Given the description of an element on the screen output the (x, y) to click on. 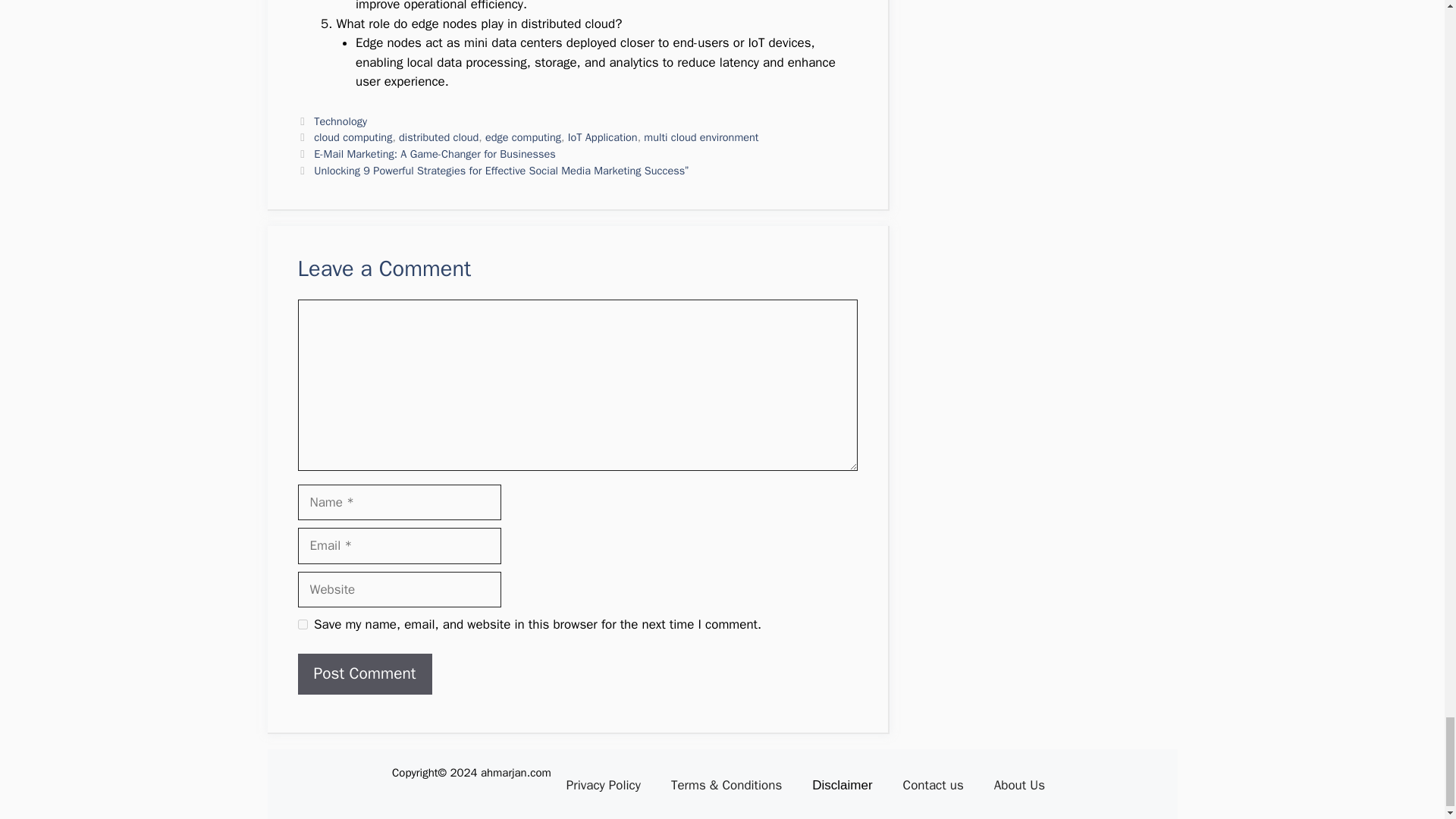
edge computing (522, 137)
distributed cloud (438, 137)
cloud computing (352, 137)
IoT Application (602, 137)
multi cloud environment (700, 137)
Post Comment (363, 673)
E-Mail Marketing: A Game-Changer for Businesses (435, 153)
yes (302, 624)
Technology (340, 120)
Post Comment (363, 673)
